Given the description of an element on the screen output the (x, y) to click on. 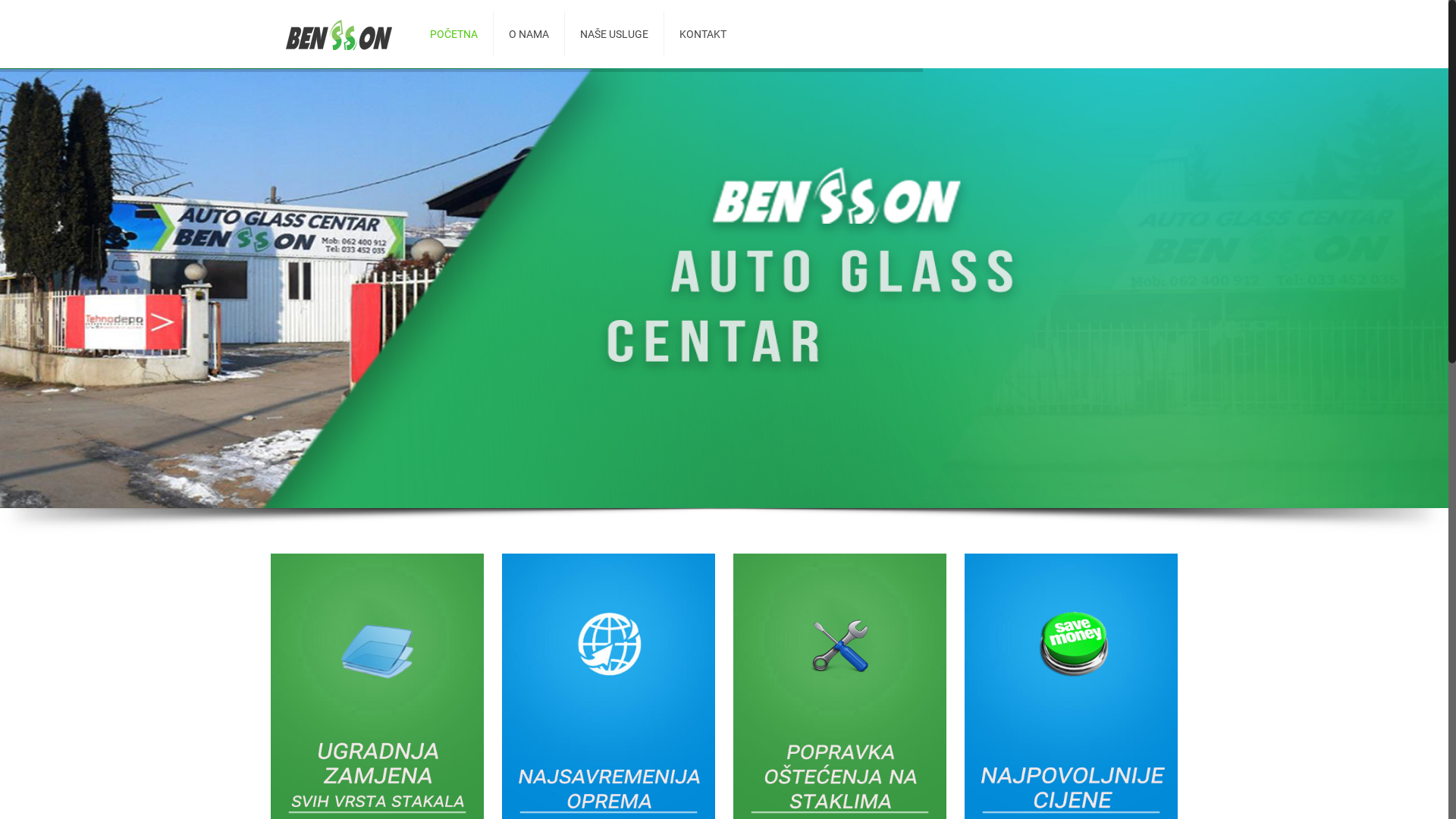
O NAMA Element type: text (528, 34)
Bensson - Auto Glass Centar Element type: hover (338, 34)
KONTAKT Element type: text (702, 34)
